Given the description of an element on the screen output the (x, y) to click on. 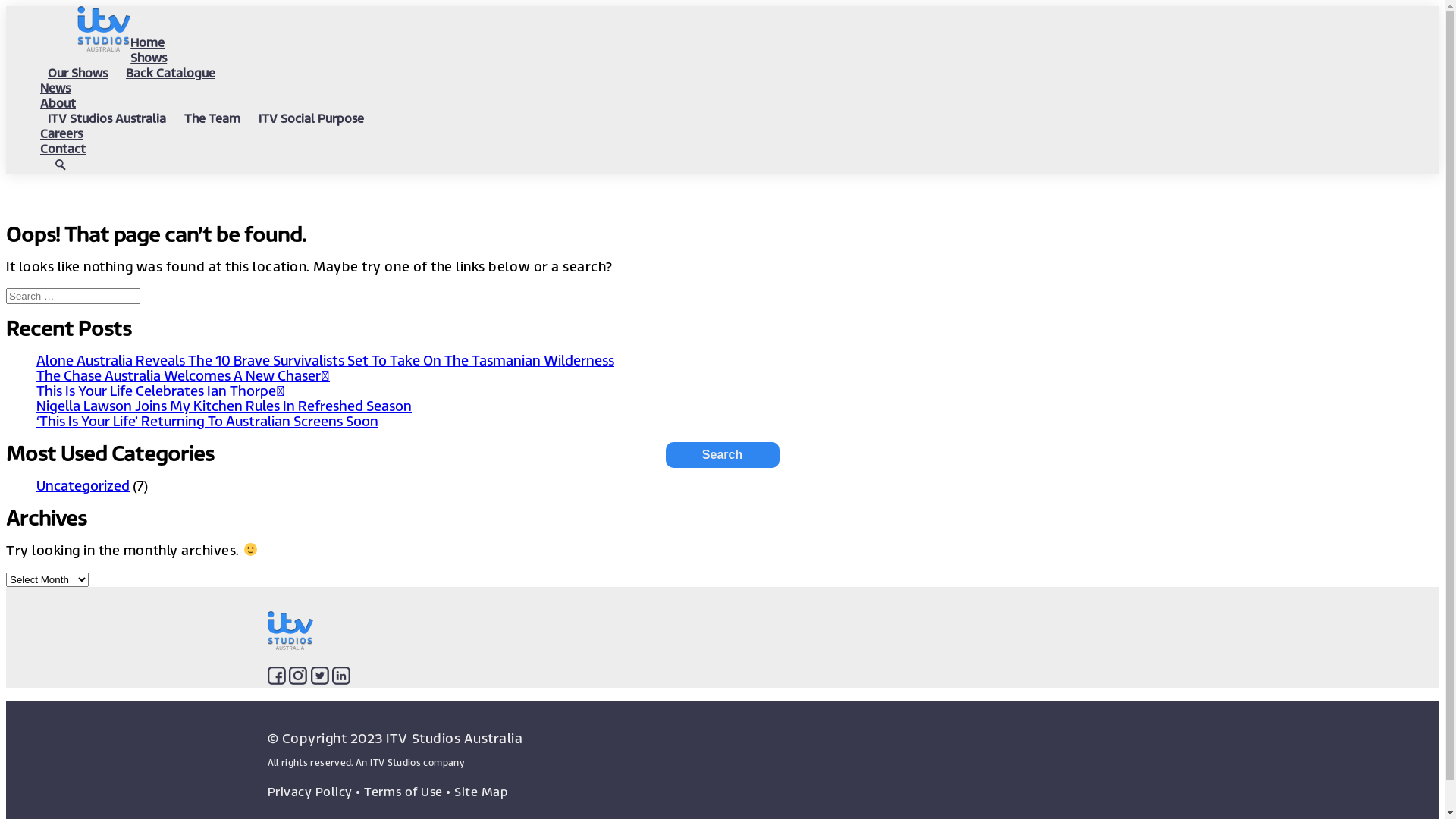
Our Shows Element type: text (77, 72)
Contact Element type: text (62, 148)
ITV Studios Australia Element type: text (106, 118)
Back Catalogue Element type: text (170, 72)
News Element type: text (55, 87)
Home Element type: text (147, 42)
About Element type: text (57, 102)
ITV Social Purpose Element type: text (311, 118)
Careers Element type: text (61, 133)
Site Map Element type: text (481, 791)
Terms of Use Element type: text (403, 791)
Privacy Policy Element type: text (308, 791)
Nigella Lawson Joins My Kitchen Rules In Refreshed Season Element type: text (223, 405)
The Team Element type: text (211, 118)
Shows Element type: text (148, 57)
Uncategorized Element type: text (82, 485)
Search Element type: text (722, 454)
